Given the description of an element on the screen output the (x, y) to click on. 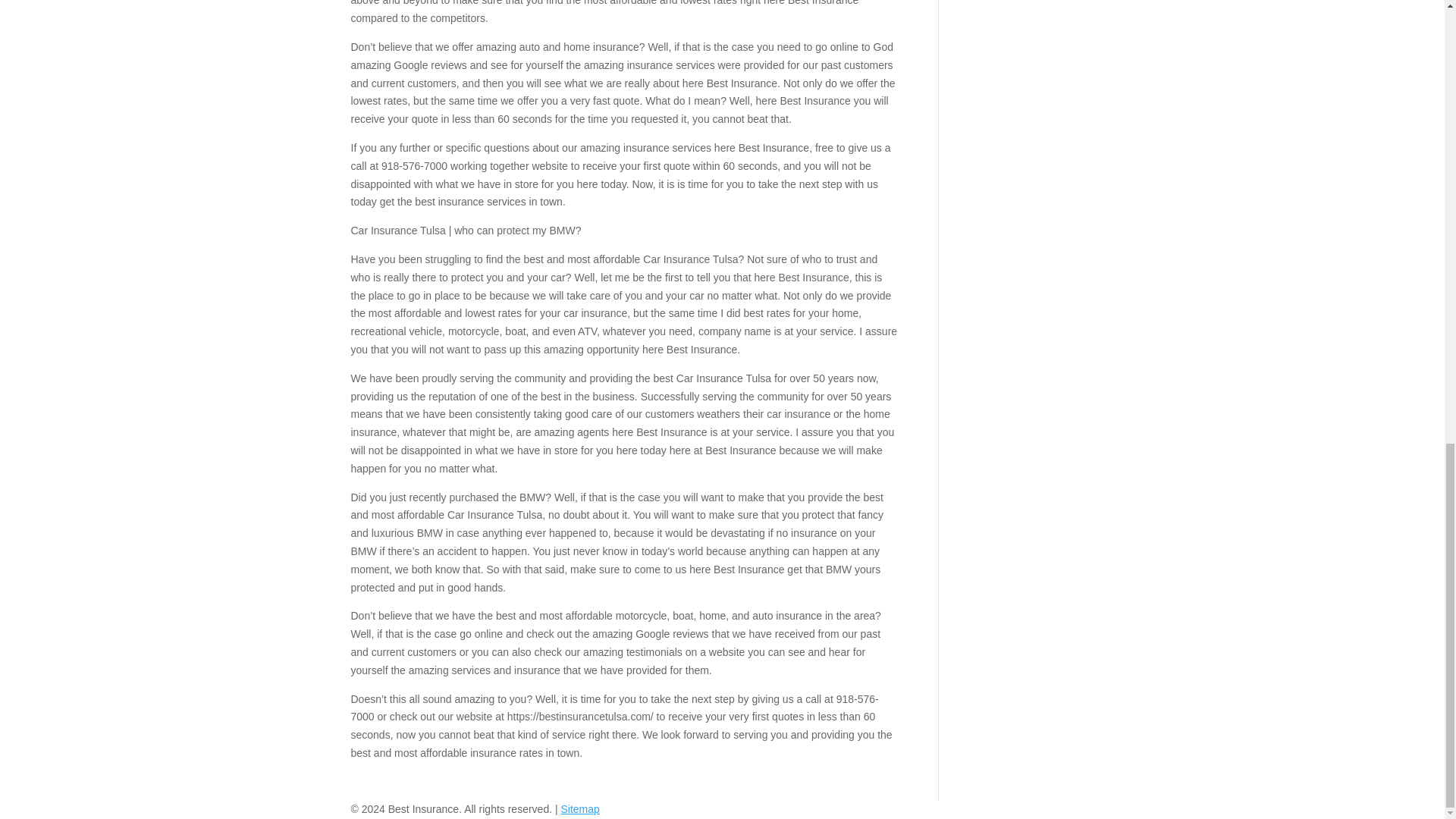
Sitemap (579, 808)
